Given the description of an element on the screen output the (x, y) to click on. 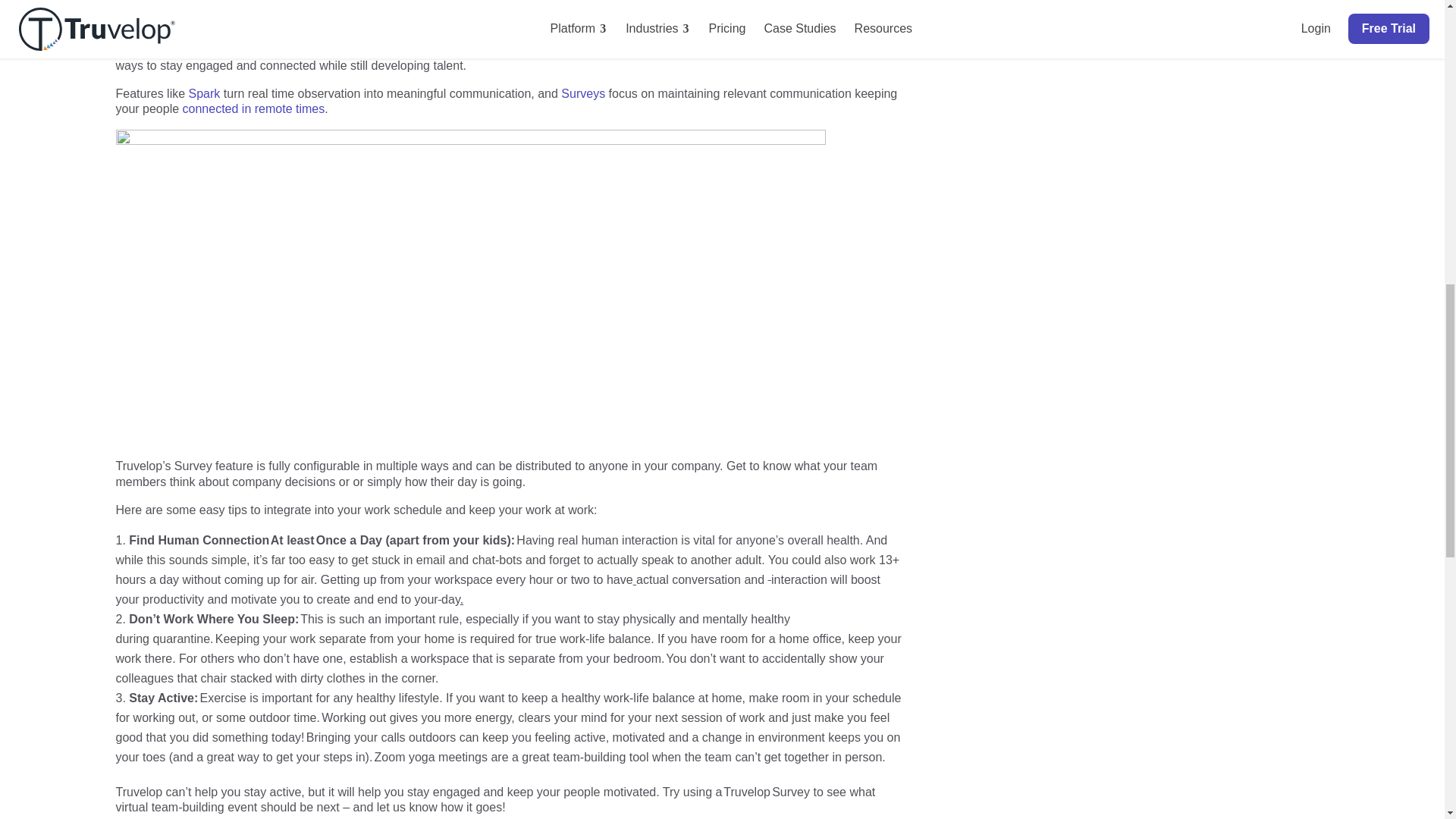
Surveys (582, 92)
Spark (205, 92)
connected in remote times (253, 108)
performance management (638, 49)
